Given the description of an element on the screen output the (x, y) to click on. 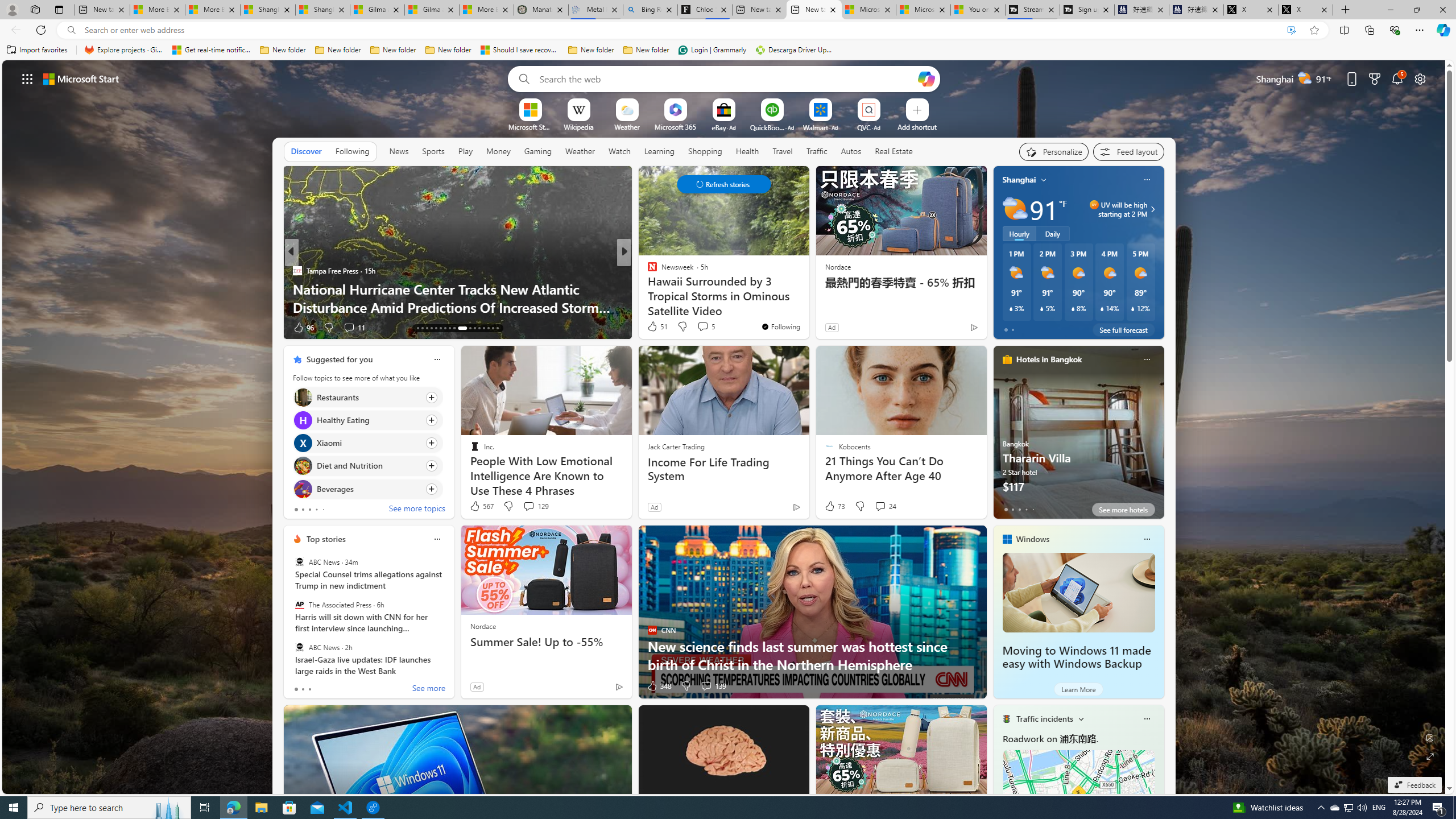
View comments 5 Comment (705, 326)
Summer Sale! Up to -55% (546, 641)
AutomationID: waffle (27, 78)
Autos (851, 151)
View comments 129 Comment (528, 505)
Personalize your feed" (1054, 151)
Traffic incidents (1044, 718)
The Cancelled Version of Windows (807, 307)
